Given the description of an element on the screen output the (x, y) to click on. 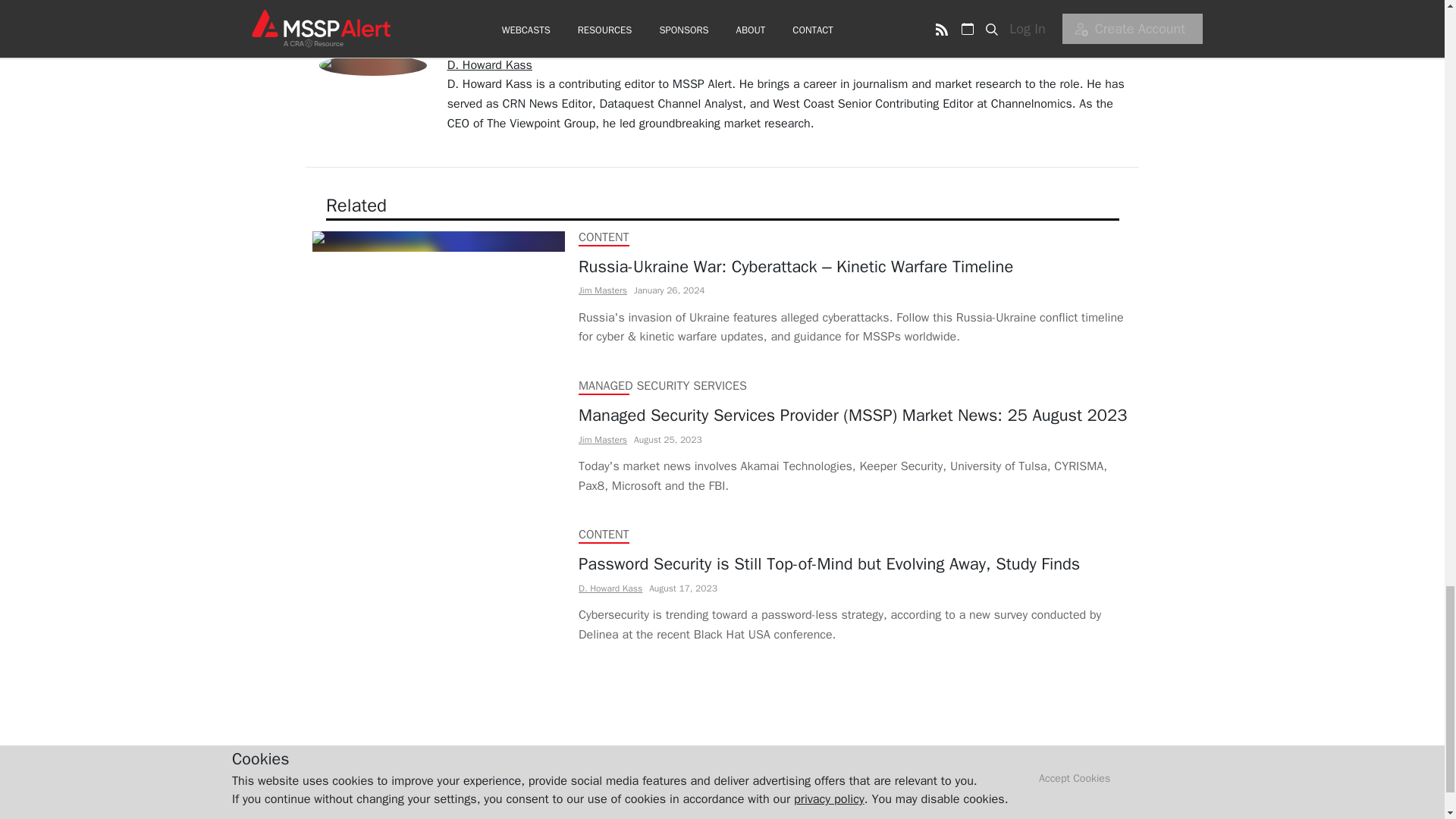
CONTENT (603, 534)
D. Howard Kass (489, 64)
MANAGED SECURITY SERVICES (661, 385)
D. Howard Kass (610, 588)
Jim Masters (602, 290)
CONTENT (603, 237)
Jim Masters (602, 439)
